Given the description of an element on the screen output the (x, y) to click on. 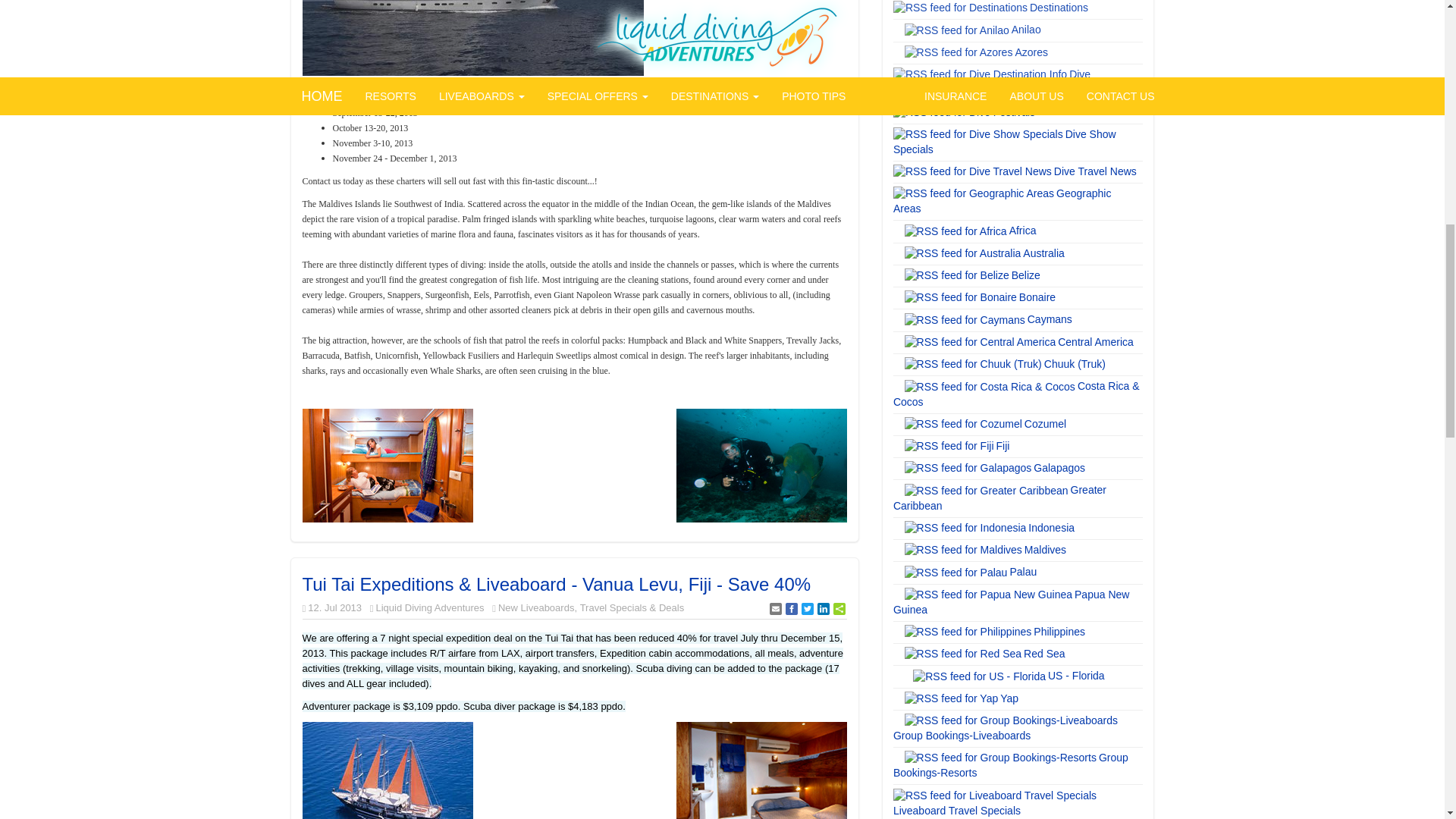
Category: Azores (1031, 51)
Liquid Diving Adventures (429, 607)
Category: Dive Festivals (1070, 111)
Destinations (1059, 7)
Category: Anilao (1027, 29)
Category: Dive Destination Info (991, 81)
Category: Dive Show Specials (1004, 141)
New Liveaboards (535, 607)
Category: Dive Travel News (1096, 171)
Category: Destinations (1059, 7)
